Given the description of an element on the screen output the (x, y) to click on. 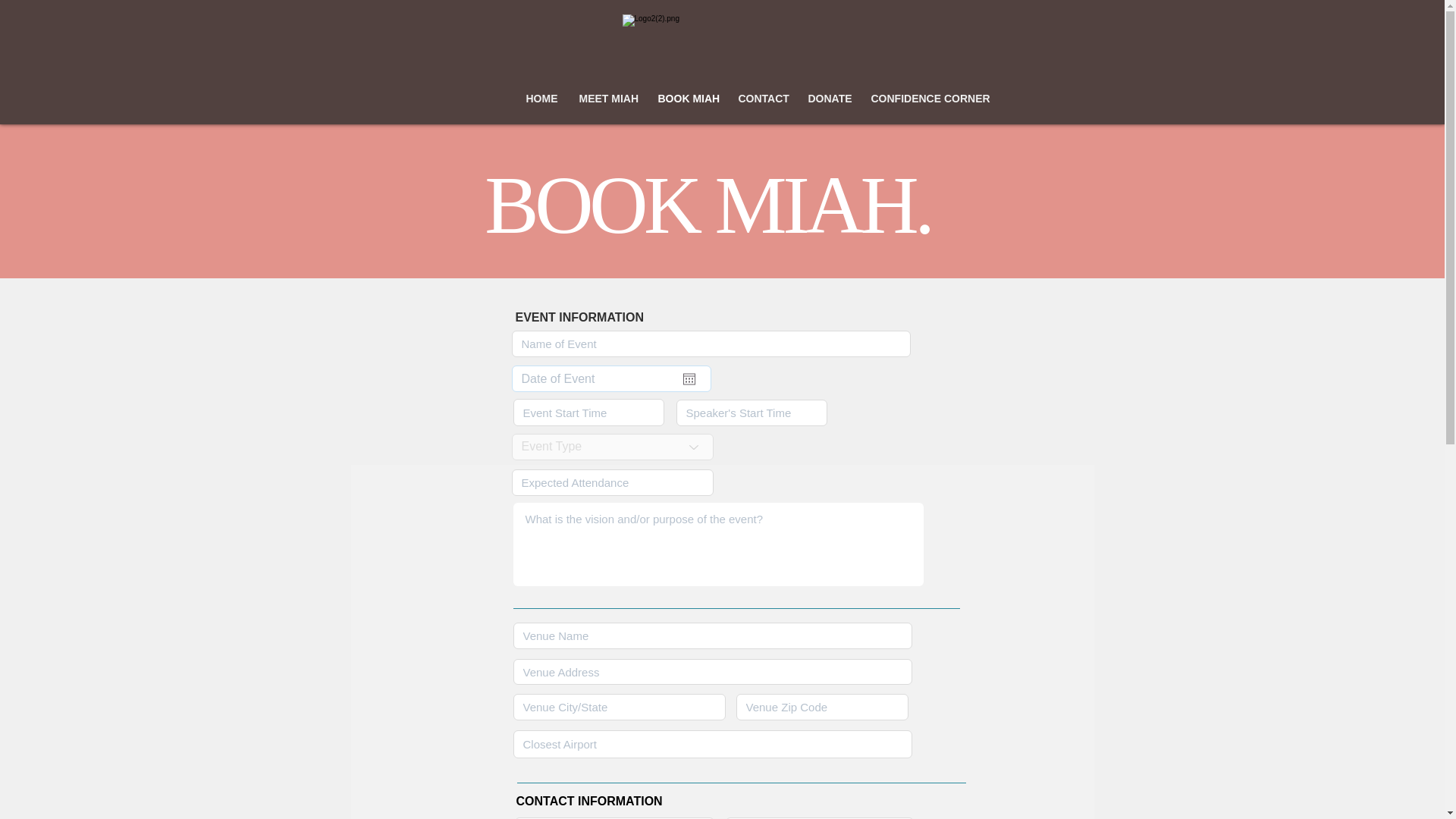
MEET MIAH (606, 98)
CONTACT (761, 98)
HOME (540, 98)
DONATE (827, 98)
BOOK MIAH (686, 98)
CONFIDENCE CORNER (925, 98)
